Given the description of an element on the screen output the (x, y) to click on. 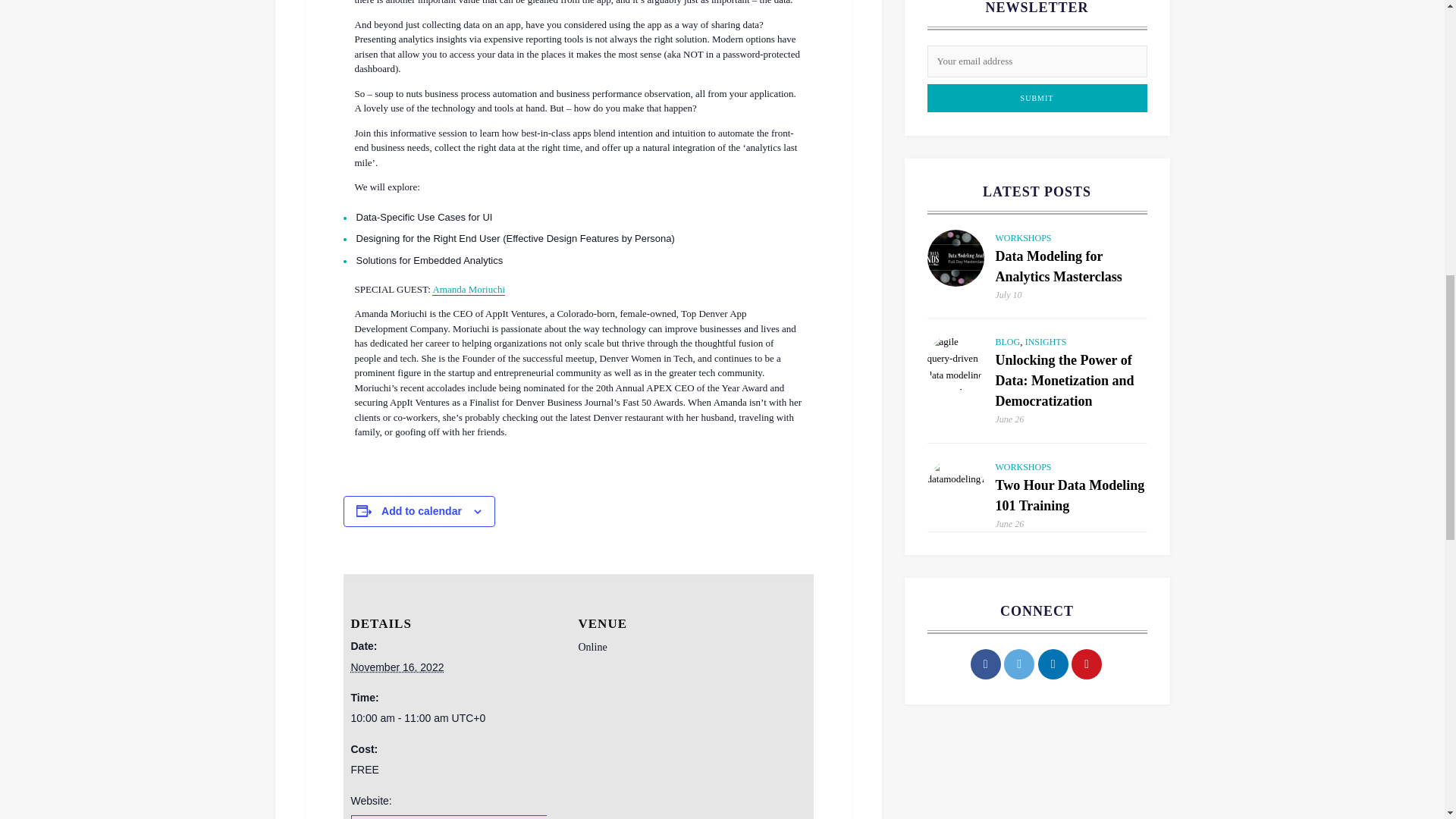
Data Modeling For Analytics Masterclass (955, 258)
Submit (1036, 98)
2022-11-16 (454, 718)
2022-11-16 (397, 666)
Two Hour Data Modeling 101 Training (955, 486)
